Given the description of an element on the screen output the (x, y) to click on. 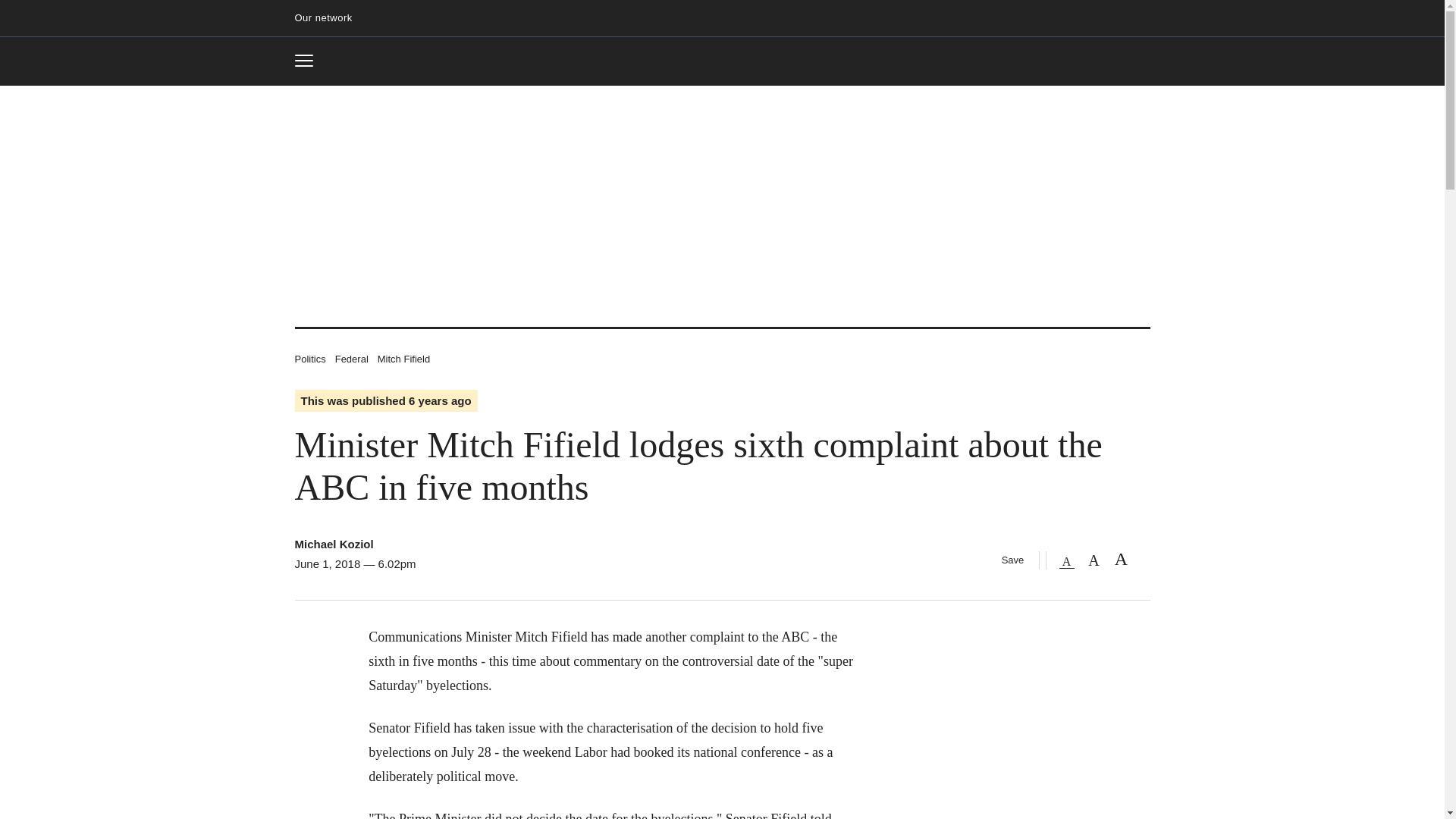
Mitch Fifield (403, 358)
Articles by Michael Koziol (309, 60)
Brisbane Times (333, 543)
Politics (722, 61)
Federal (309, 358)
Our network (351, 358)
